Given the description of an element on the screen output the (x, y) to click on. 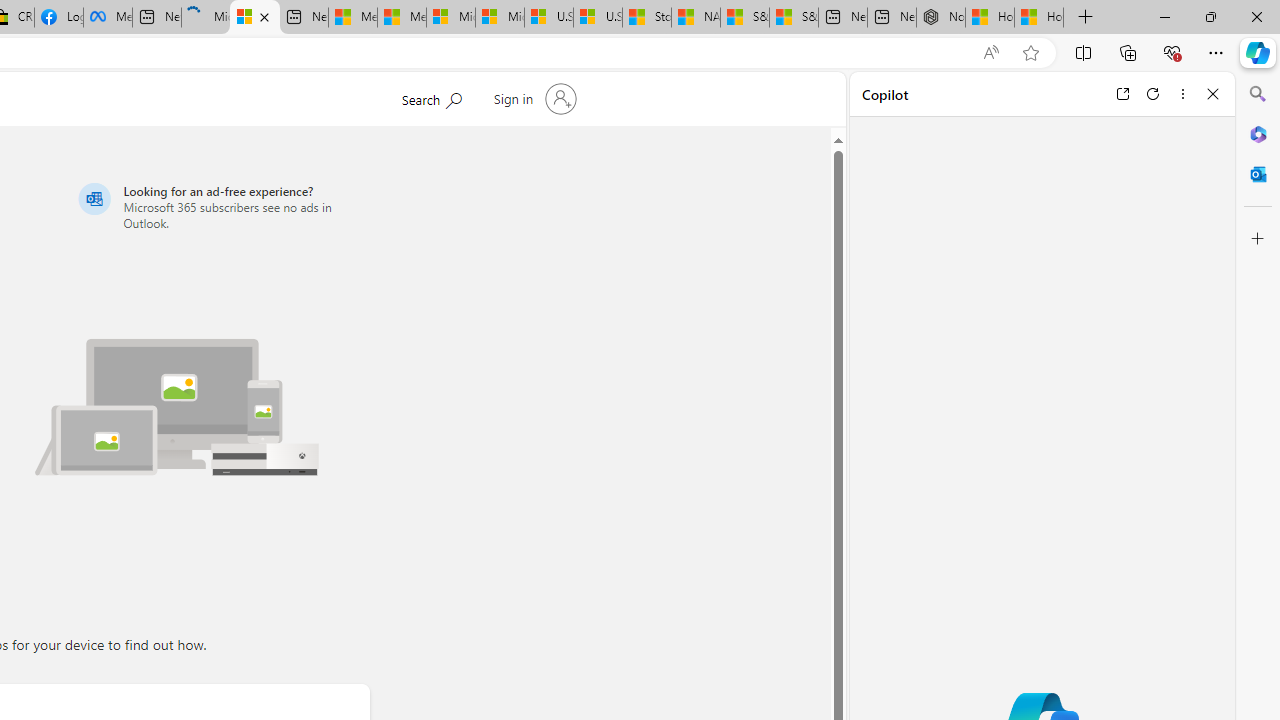
Open link in new tab (1122, 93)
Customize (1258, 239)
Looking for an ad-free experience? (220, 206)
Meta Store (107, 17)
